Given the description of an element on the screen output the (x, y) to click on. 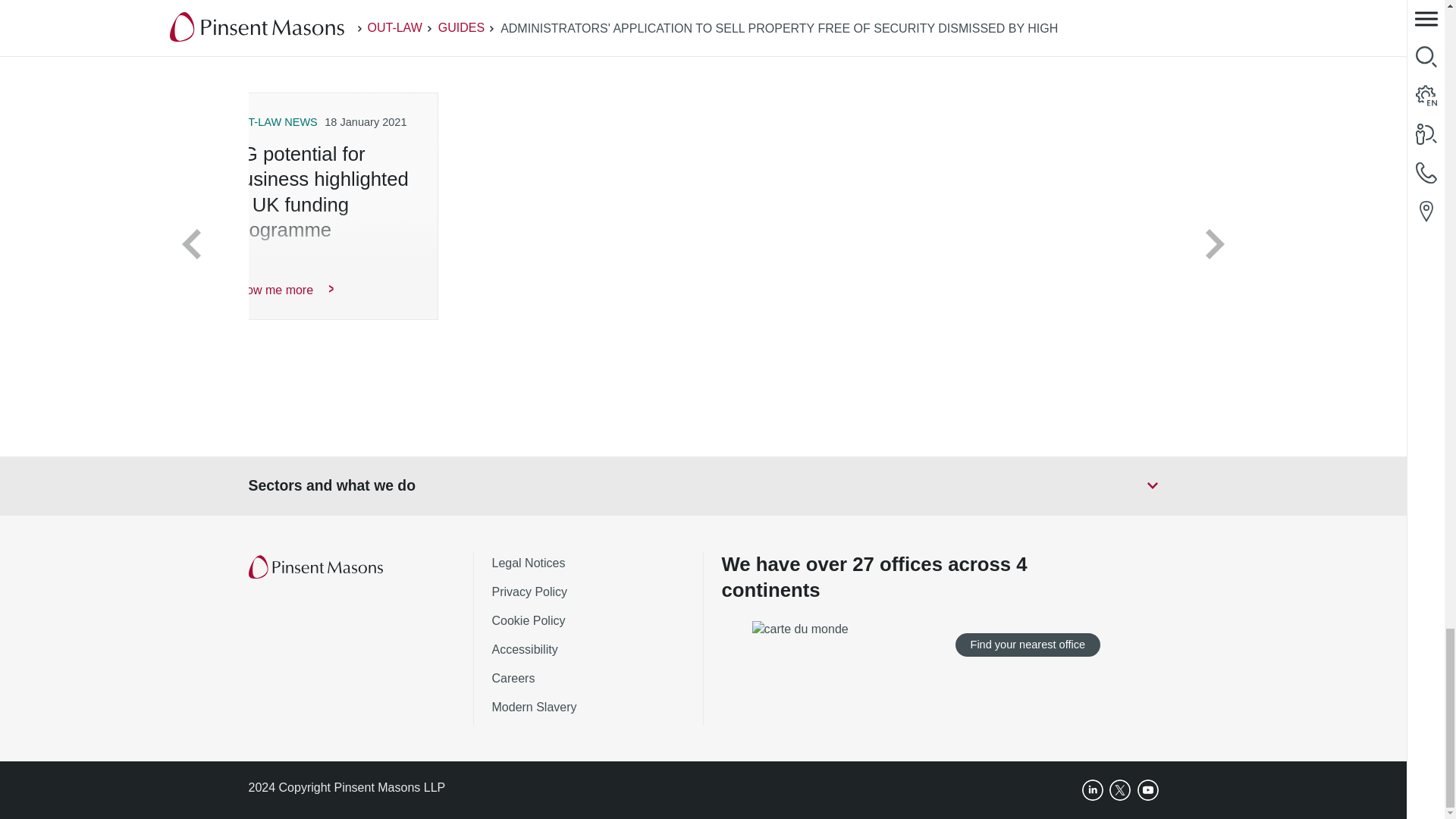
Pinsent Masons (316, 567)
Pinsent Masons LinkedIn (1092, 789)
Pinsent Masons Twitter (1120, 789)
